Given the description of an element on the screen output the (x, y) to click on. 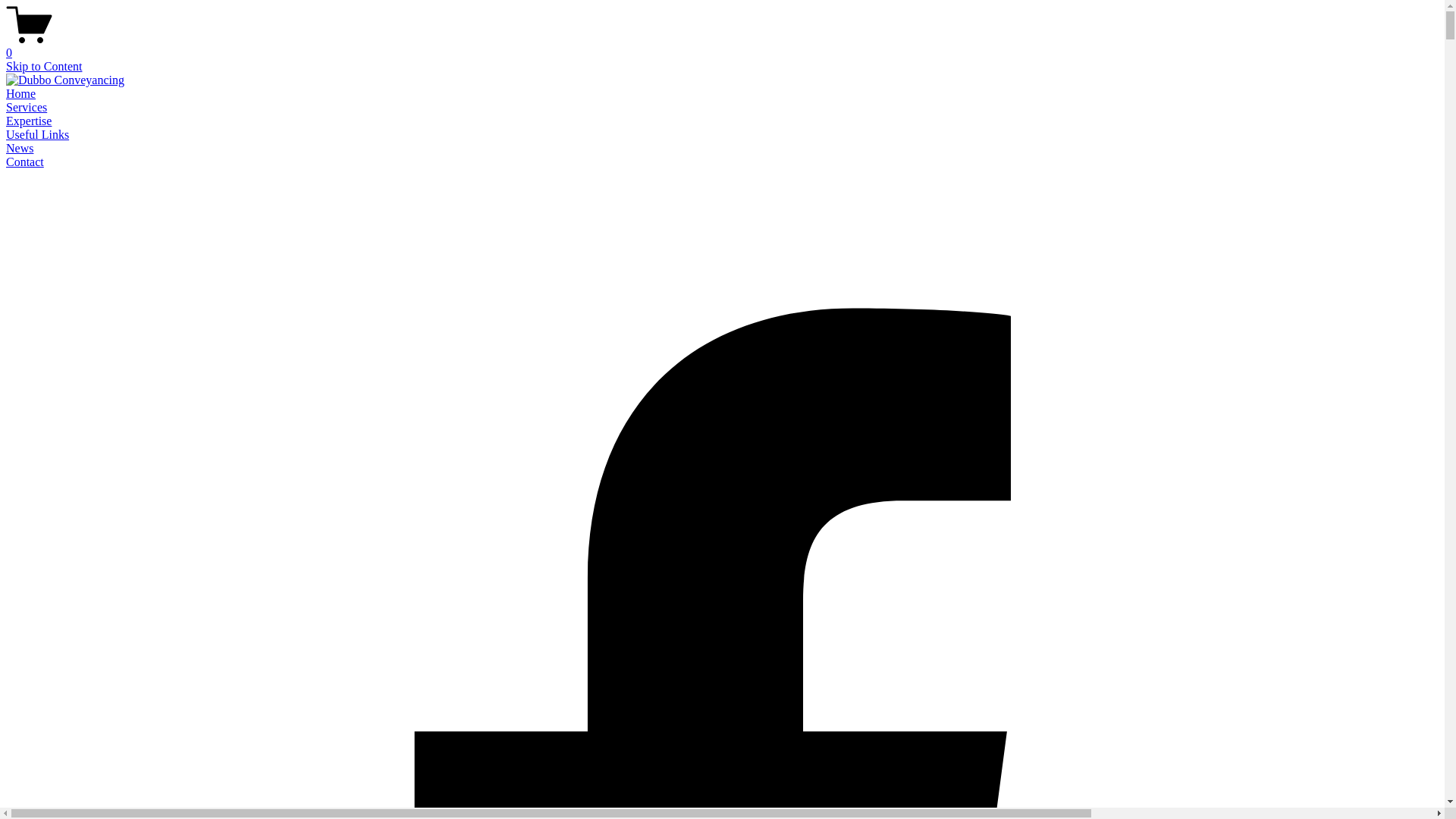
Services Element type: text (26, 106)
Useful Links Element type: text (37, 134)
Expertise Element type: text (28, 120)
News Element type: text (19, 147)
0 Element type: text (722, 45)
Contact Element type: text (24, 161)
Home Element type: text (20, 93)
Skip to Content Element type: text (43, 65)
